Given the description of an element on the screen output the (x, y) to click on. 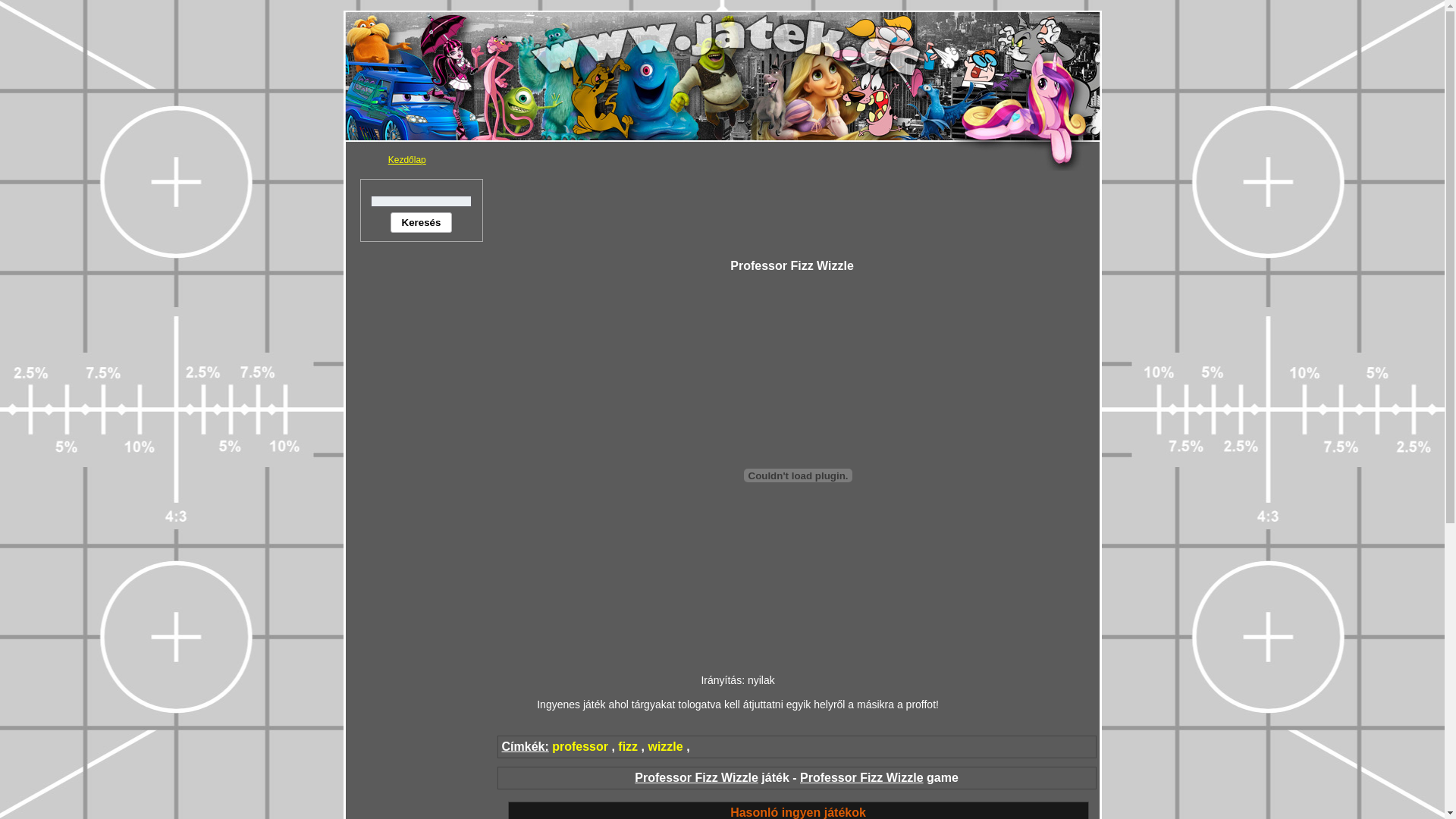
Advertisement Element type: hover (421, 485)
wizzle Element type: text (664, 746)
fizz Element type: text (627, 746)
Advertisement Element type: hover (797, 212)
professor Element type: text (580, 746)
